Given the description of an element on the screen output the (x, y) to click on. 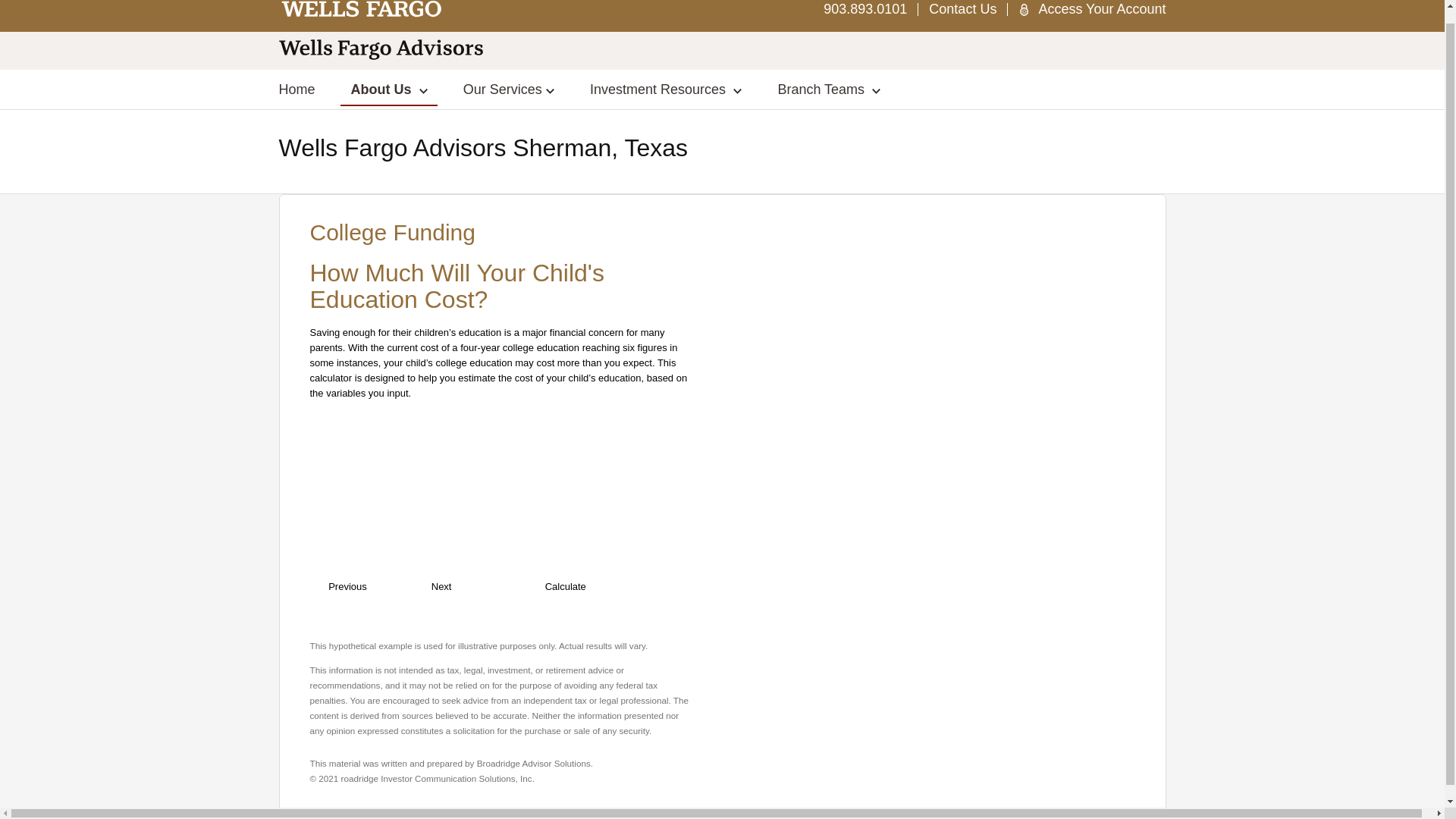
Investment Resources (665, 89)
Access Your Account (1102, 8)
Wells Fargo Advisors Home (362, 8)
Home (297, 88)
Contact Us (961, 8)
About Us (389, 89)
Branch Teams (829, 89)
903.893.0101 (865, 8)
Our Services (508, 89)
